Given the description of an element on the screen output the (x, y) to click on. 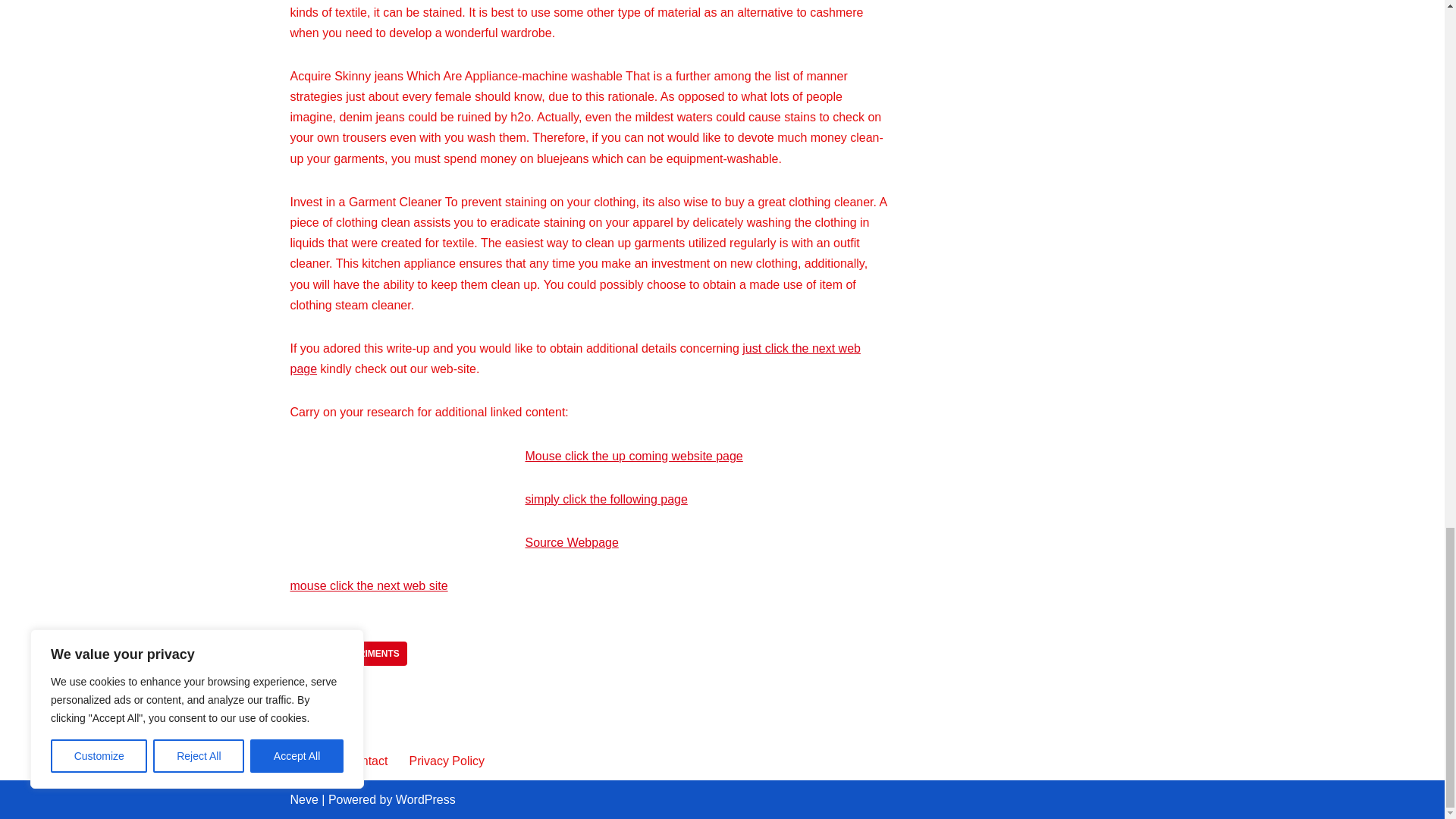
Experiments (366, 653)
Mouse click the up coming website page (633, 455)
simply click the following page (605, 499)
Source Webpage (570, 542)
mouse click the next web site (367, 585)
just click the next web page (574, 358)
EXPERIMENTS (366, 653)
